Given the description of an element on the screen output the (x, y) to click on. 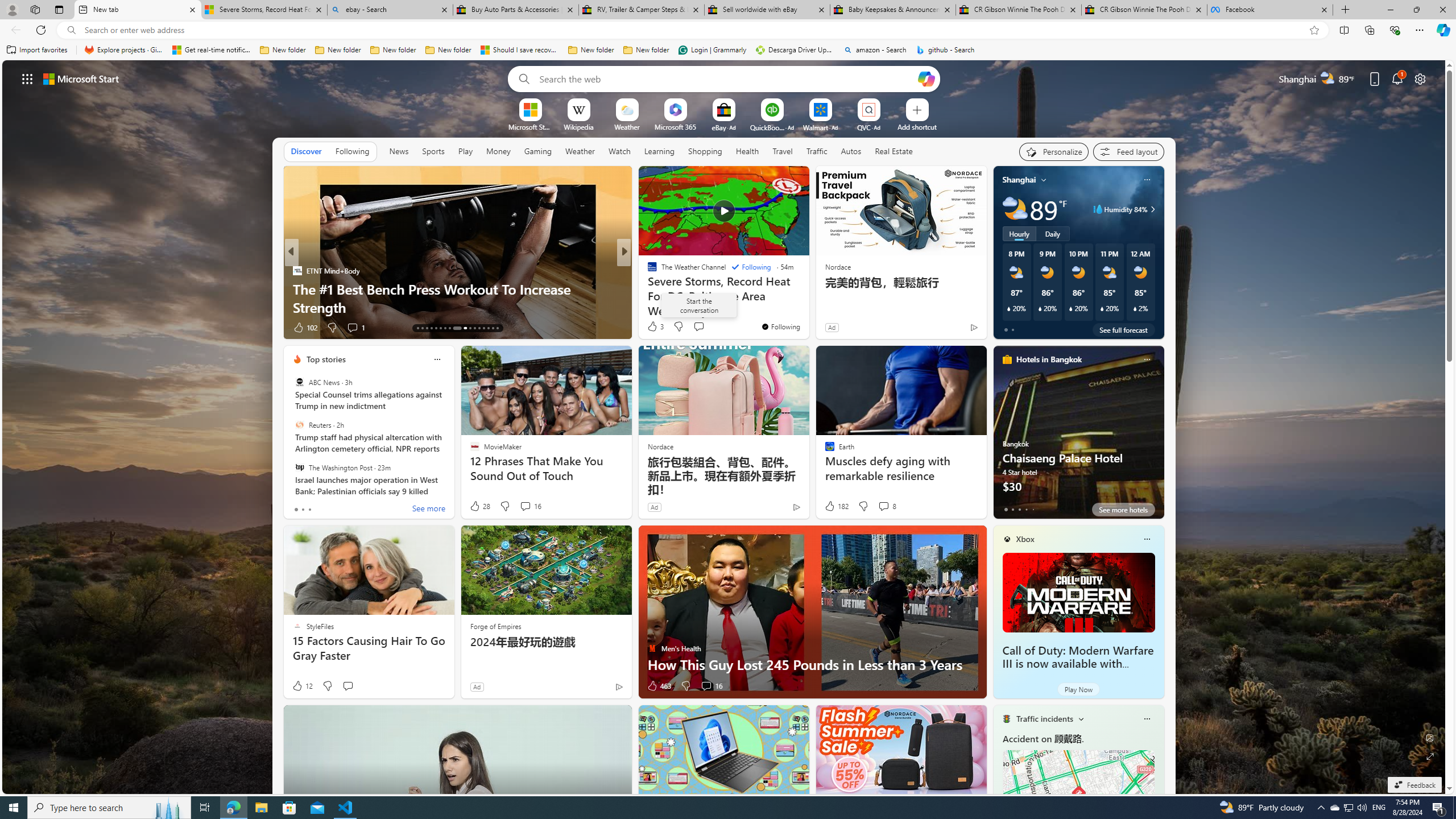
You're following The Weather Channel (780, 326)
AutomationID: tab-13 (417, 328)
tab-4 (1032, 509)
Top stories (325, 359)
Special Personal Offer (807, 307)
AutomationID: tab-27 (488, 328)
28 Like (479, 505)
Page settings (1420, 78)
Hourly (1018, 233)
Reuters (299, 424)
Traffic Title Traffic Light (1005, 718)
